Given the description of an element on the screen output the (x, y) to click on. 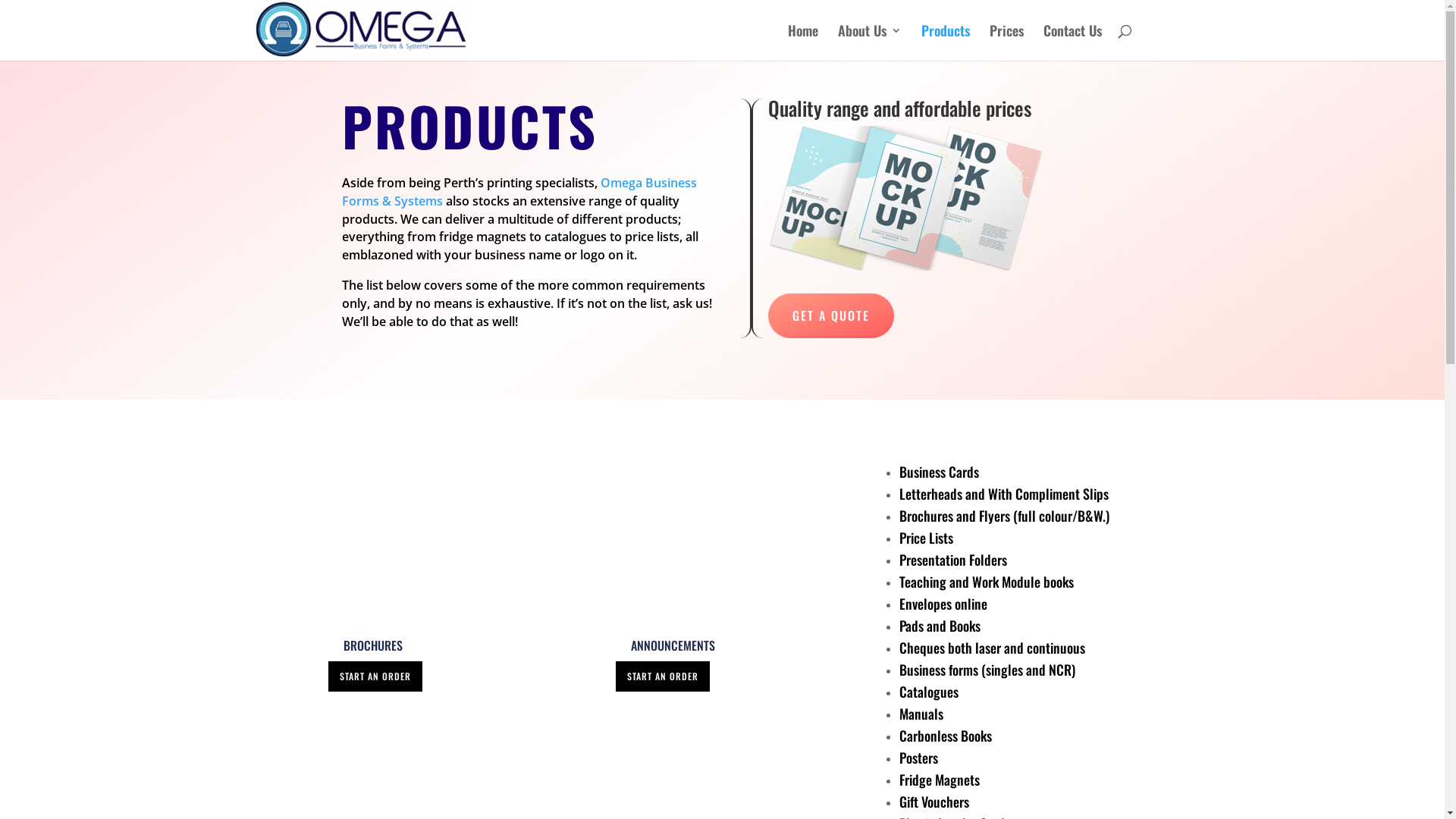
Mockup_072 Element type: hover (906, 197)
Posters Element type: text (918, 757)
Envelopes online Element type: text (943, 603)
Business Cards Element type: text (939, 471)
Carbonless Books Element type: text (945, 735)
GET A QUOTE Element type: text (831, 315)
Pads and Books Element type: text (939, 625)
Brochures and Flyers (full colour/B&W.) Element type: text (1004, 515)
Presentation Folders Element type: text (953, 559)
START AN ORDER Element type: text (374, 676)
About Us Element type: text (868, 42)
Omega Business Forms & Systems Element type: text (519, 191)
Contact Us Element type: text (1072, 42)
Catalogues Element type: text (928, 691)
Home Element type: text (802, 42)
START AN ORDER Element type: text (662, 676)
Prices Element type: text (1005, 42)
Products Element type: text (944, 42)
